Given the description of an element on the screen output the (x, y) to click on. 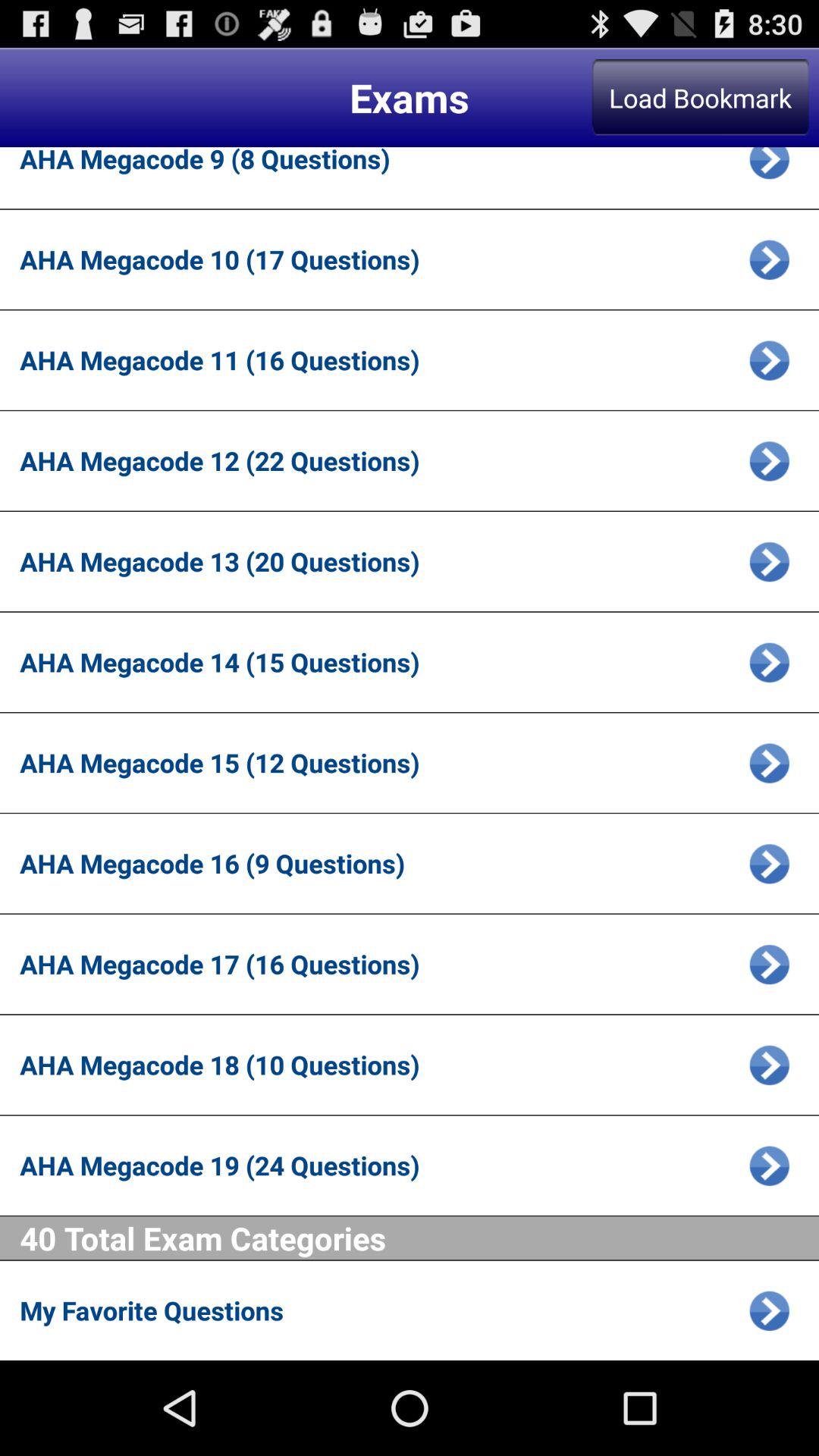
select exam (769, 561)
